Given the description of an element on the screen output the (x, y) to click on. 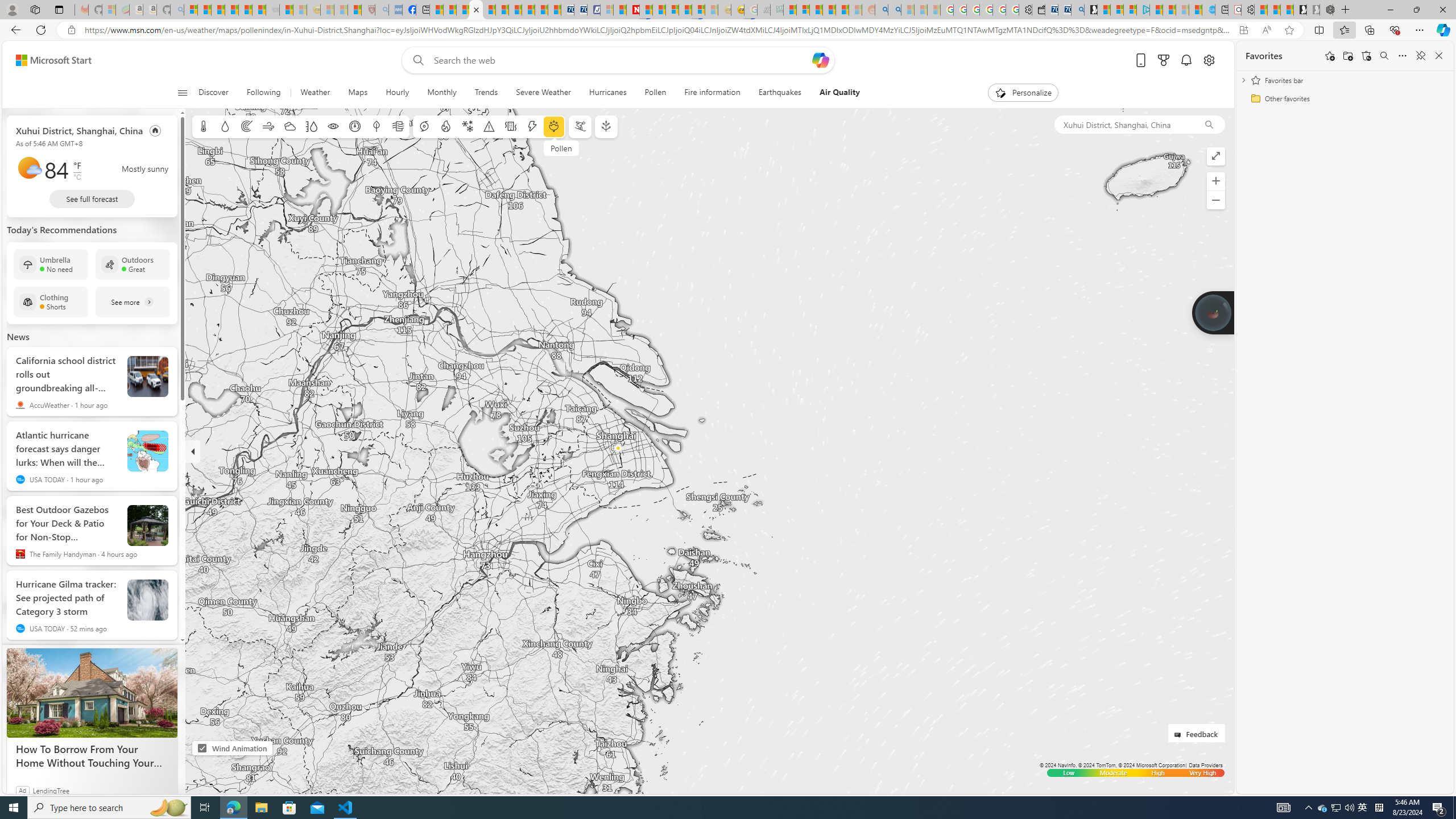
Join us in planting real trees to help our planet! (1213, 312)
Severe Weather (542, 92)
Monthly (441, 92)
Fire information (445, 126)
Unpin favorites (1420, 55)
Earthquakes (779, 92)
Trends (485, 92)
Cheap Hotels - Save70.com (580, 9)
